Given the description of an element on the screen output the (x, y) to click on. 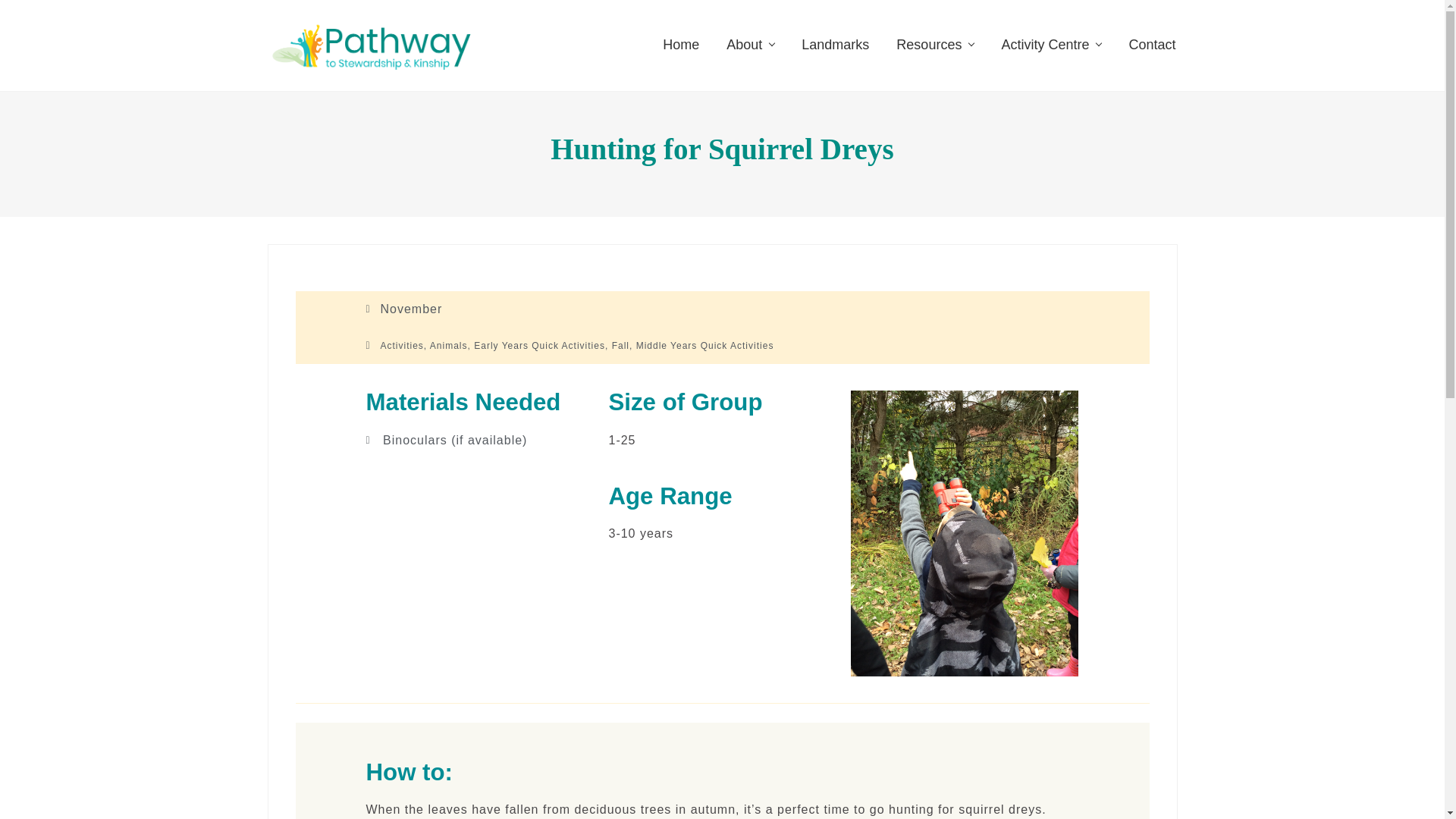
About (750, 44)
Landmarks (834, 44)
Home (680, 44)
Activity Centre (1050, 44)
Resources (934, 44)
